Given the description of an element on the screen output the (x, y) to click on. 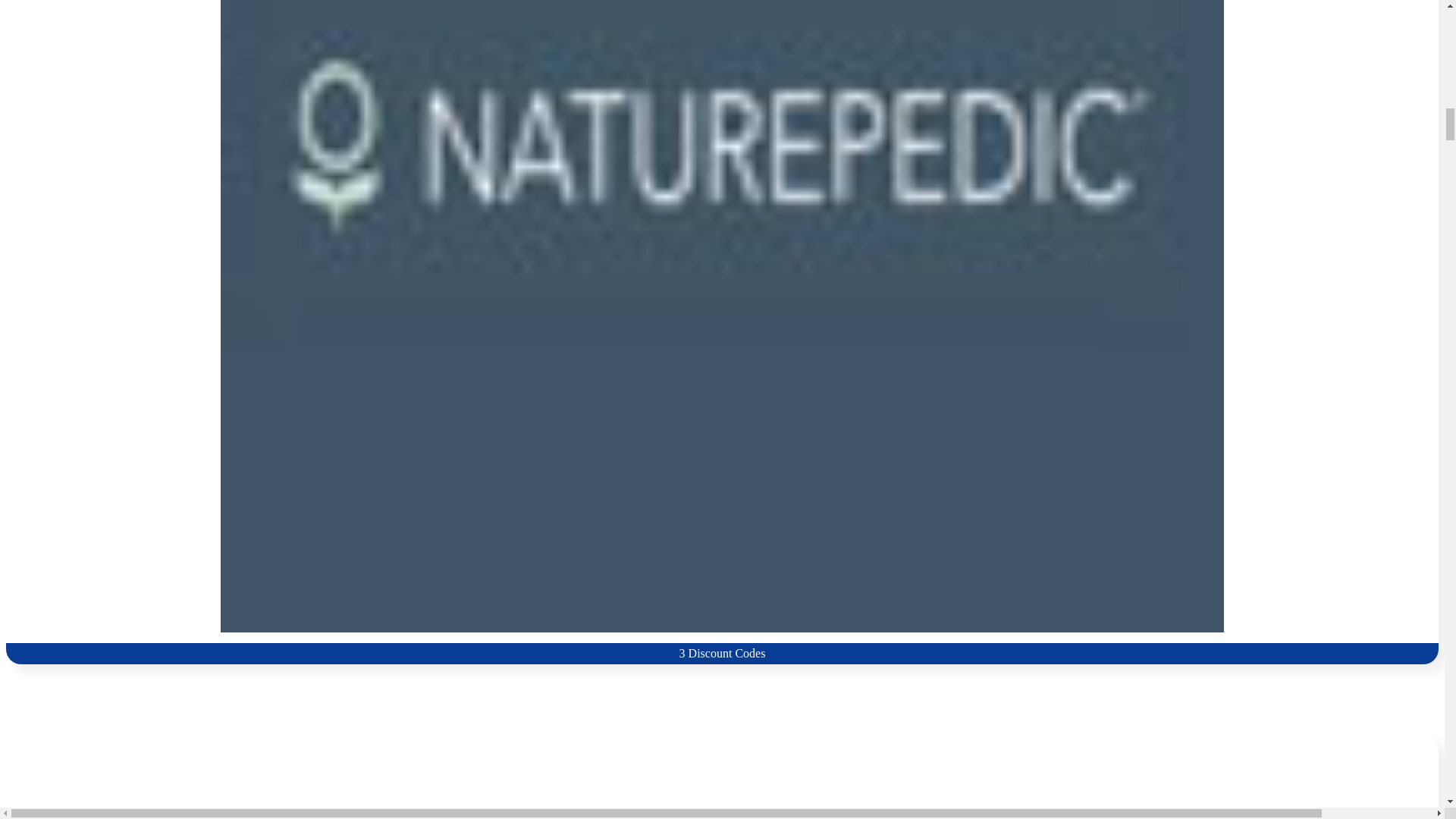
3 Promo Codes (721, 777)
